Given the description of an element on the screen output the (x, y) to click on. 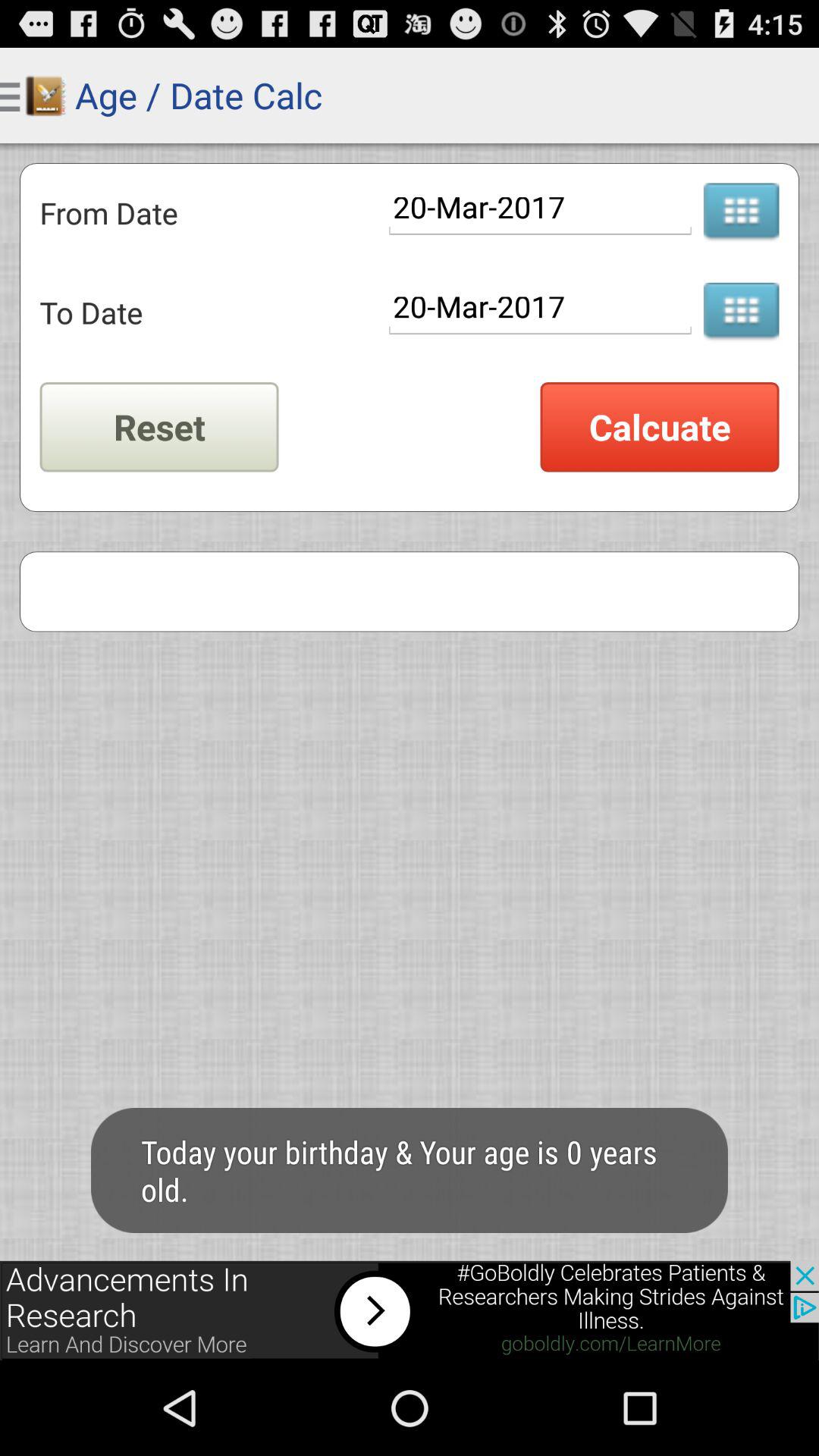
information on over 30,000+ brand name and 2000+ generic drugs (741, 312)
